Given the description of an element on the screen output the (x, y) to click on. 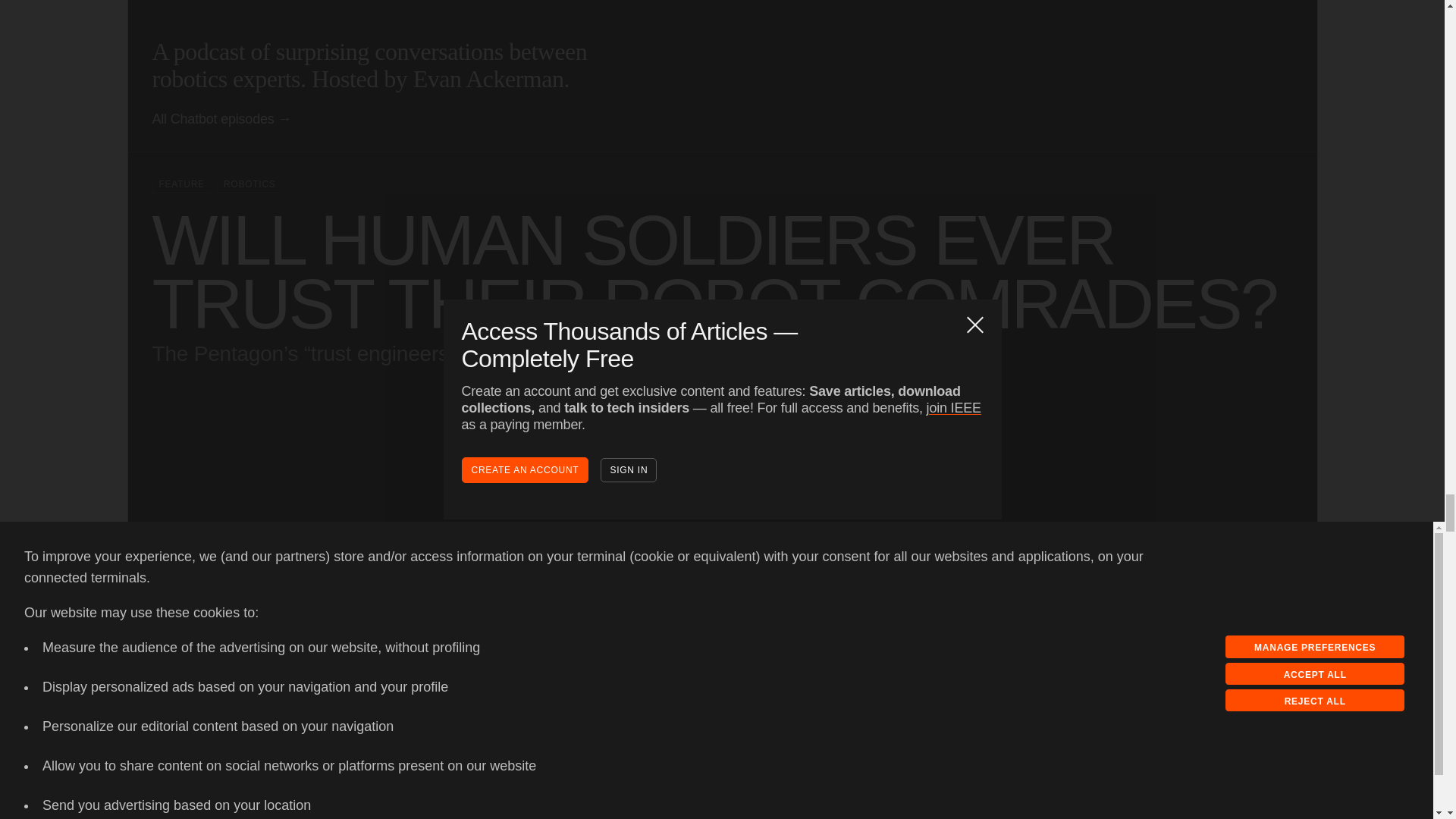
Copy this link to clipboard (1199, 578)
